Given the description of an element on the screen output the (x, y) to click on. 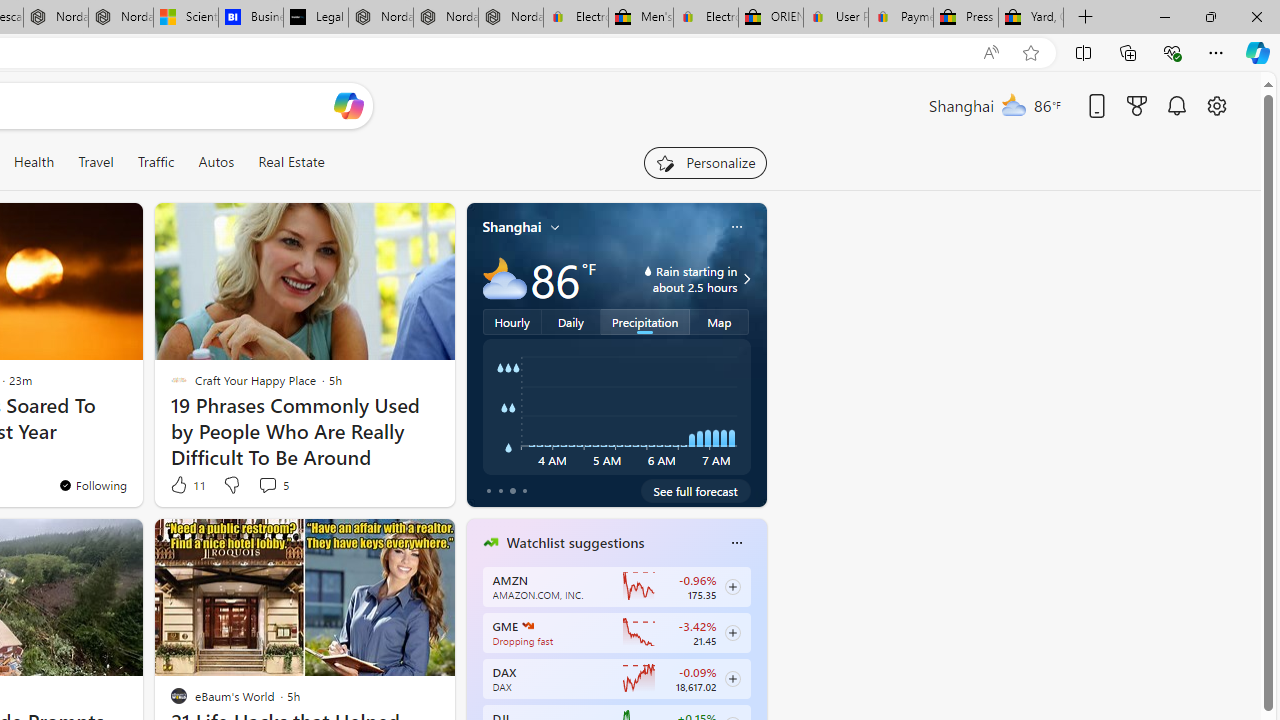
Health (34, 161)
Payments Terms of Use | eBay.com (901, 17)
You're following MSNBC (390, 490)
Personalize your feed" (704, 162)
Class: follow-button  m (732, 678)
